Given the description of an element on the screen output the (x, y) to click on. 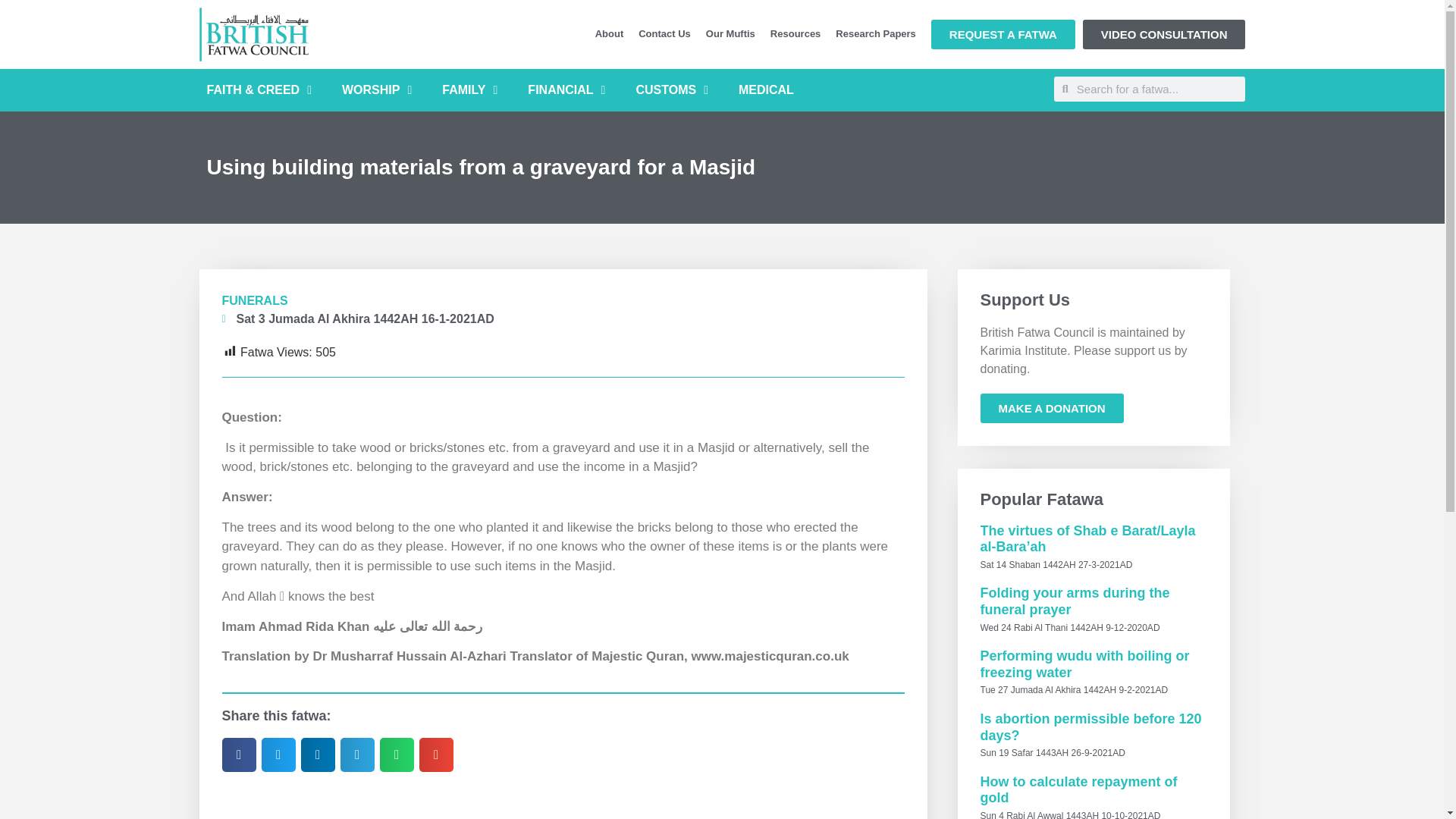
VIDEO CONSULTATION (1164, 34)
About (609, 33)
Contact Us (664, 33)
Resources (795, 33)
FAMILY (469, 89)
WORSHIP (376, 89)
Our Muftis (730, 33)
Research Papers (875, 33)
REQUEST A FATWA (1003, 34)
